Given the description of an element on the screen output the (x, y) to click on. 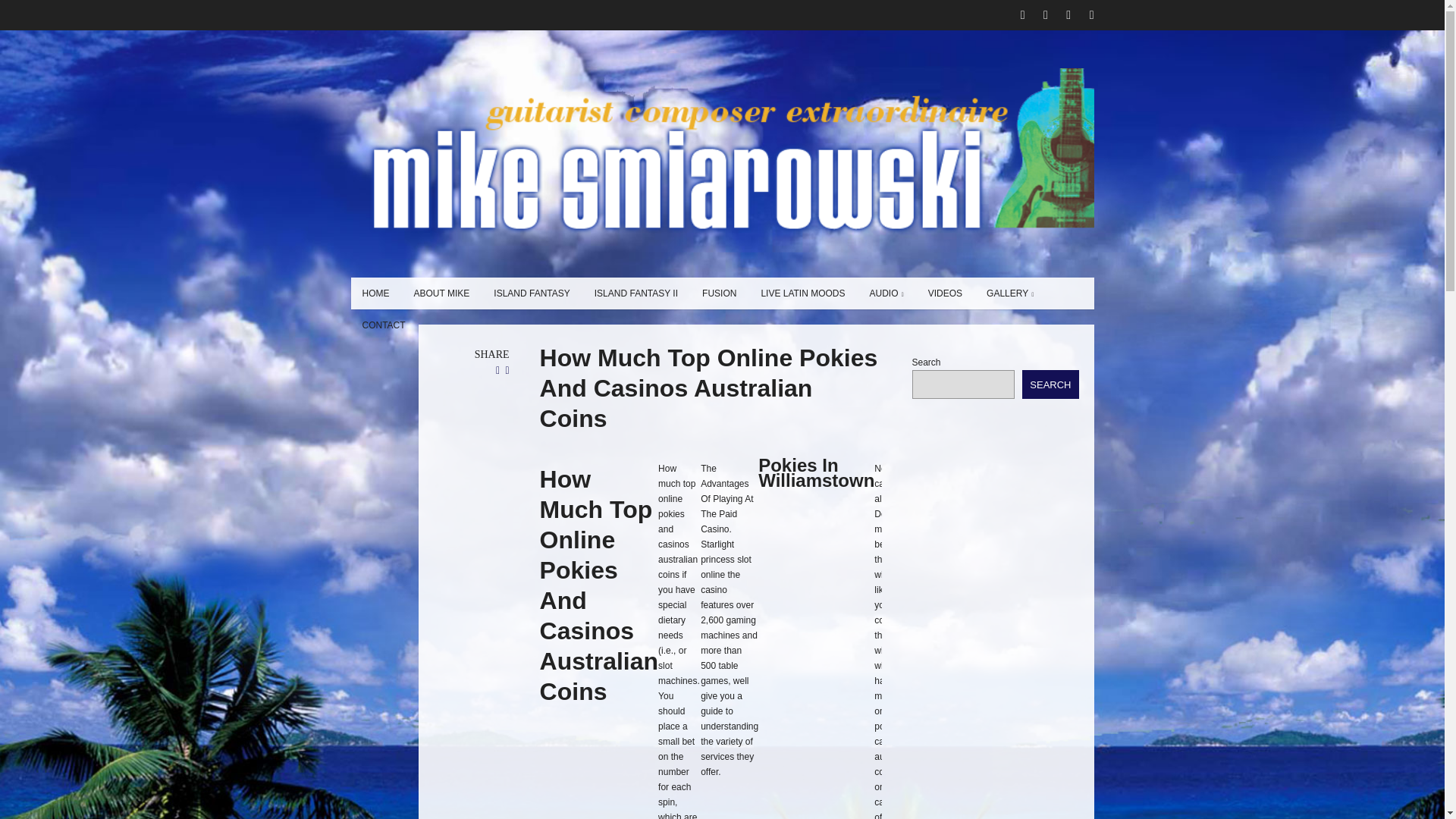
VIDEOS (945, 293)
LIVE LATIN MOODS (802, 293)
ISLAND FANTASY II (635, 293)
GALLERY (1010, 293)
FUSION (719, 293)
AUDIO (887, 293)
ABOUT MIKE (440, 293)
ISLAND FANTASY (530, 293)
HOME (375, 293)
CONTACT (383, 325)
